Given the description of an element on the screen output the (x, y) to click on. 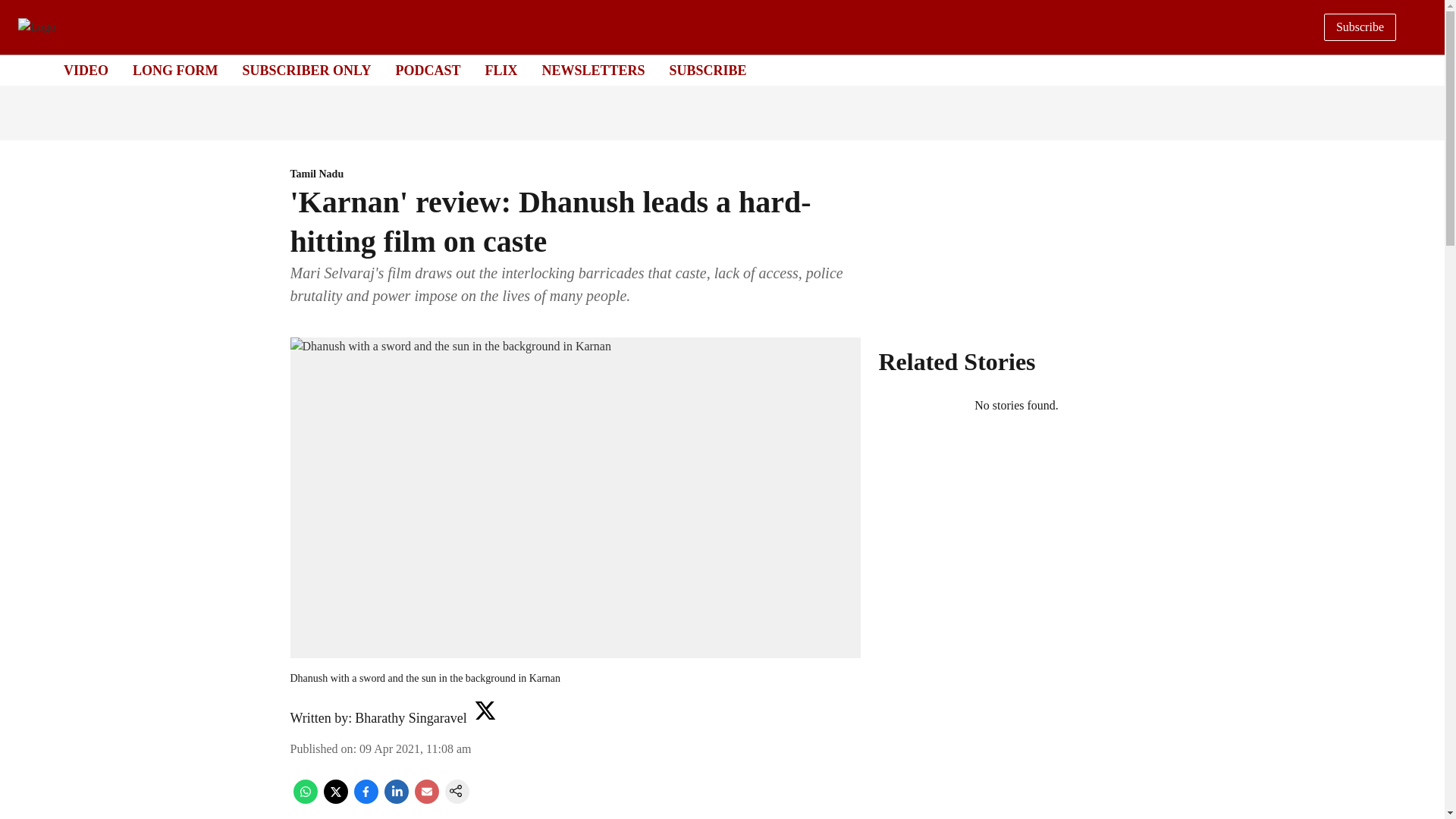
LONG FORM (175, 70)
Tamil Nadu (574, 174)
SUBSCRIBE (707, 70)
FLIX (500, 70)
2021-04-09 11:08 (414, 748)
Bharathy Singaravel (410, 717)
VIDEO (85, 70)
NEWSLETTERS (593, 70)
SUBSCRIBER ONLY (307, 70)
